Given the description of an element on the screen output the (x, y) to click on. 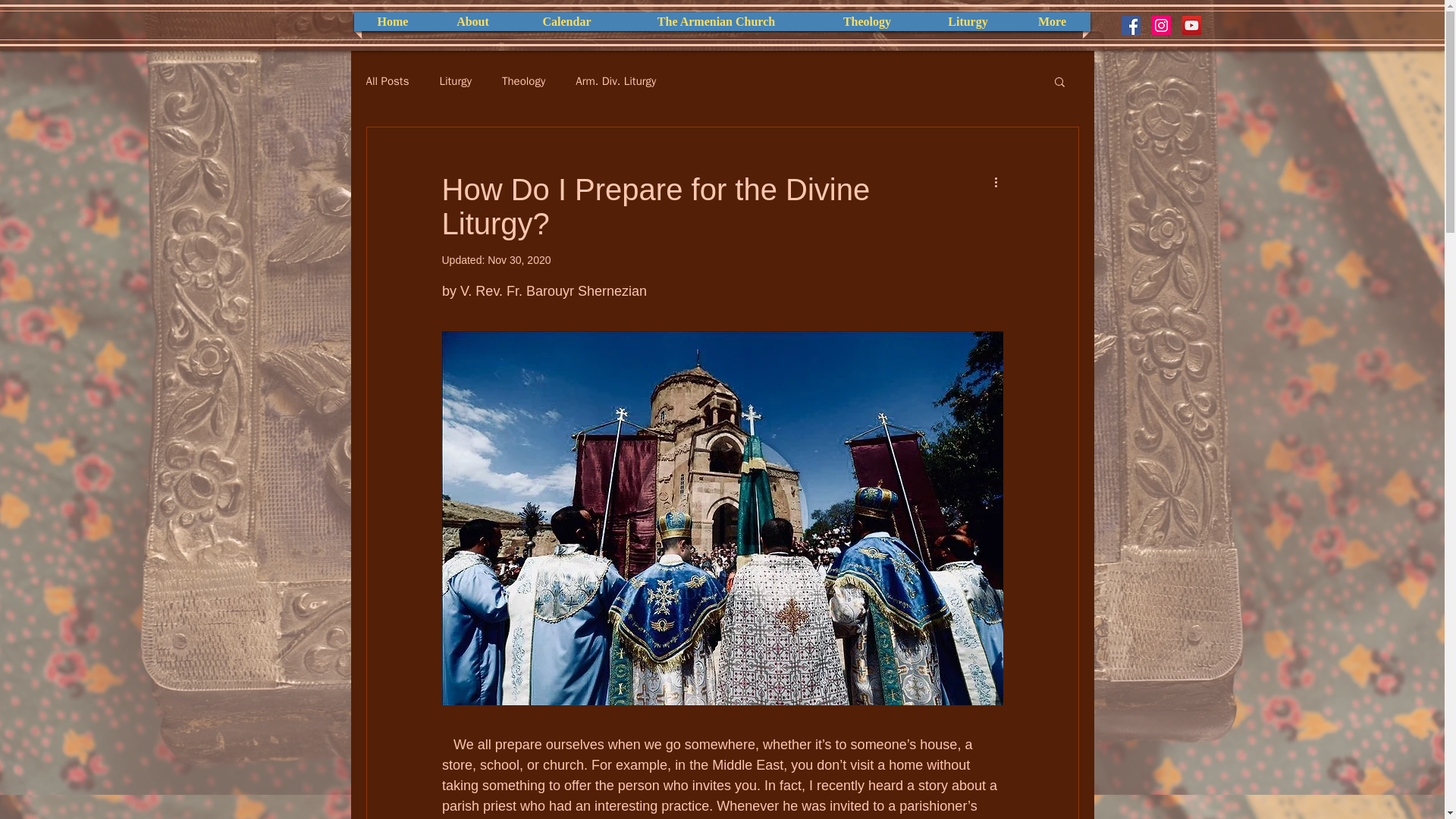
Theology (523, 81)
The Armenian Church (715, 21)
All Posts (387, 81)
Arm. Div. Liturgy (615, 81)
Liturgy (967, 21)
Nov 30, 2020 (518, 259)
Calendar (565, 21)
Theology (866, 21)
Home (393, 21)
About (472, 21)
Liturgy (455, 81)
